Given the description of an element on the screen output the (x, y) to click on. 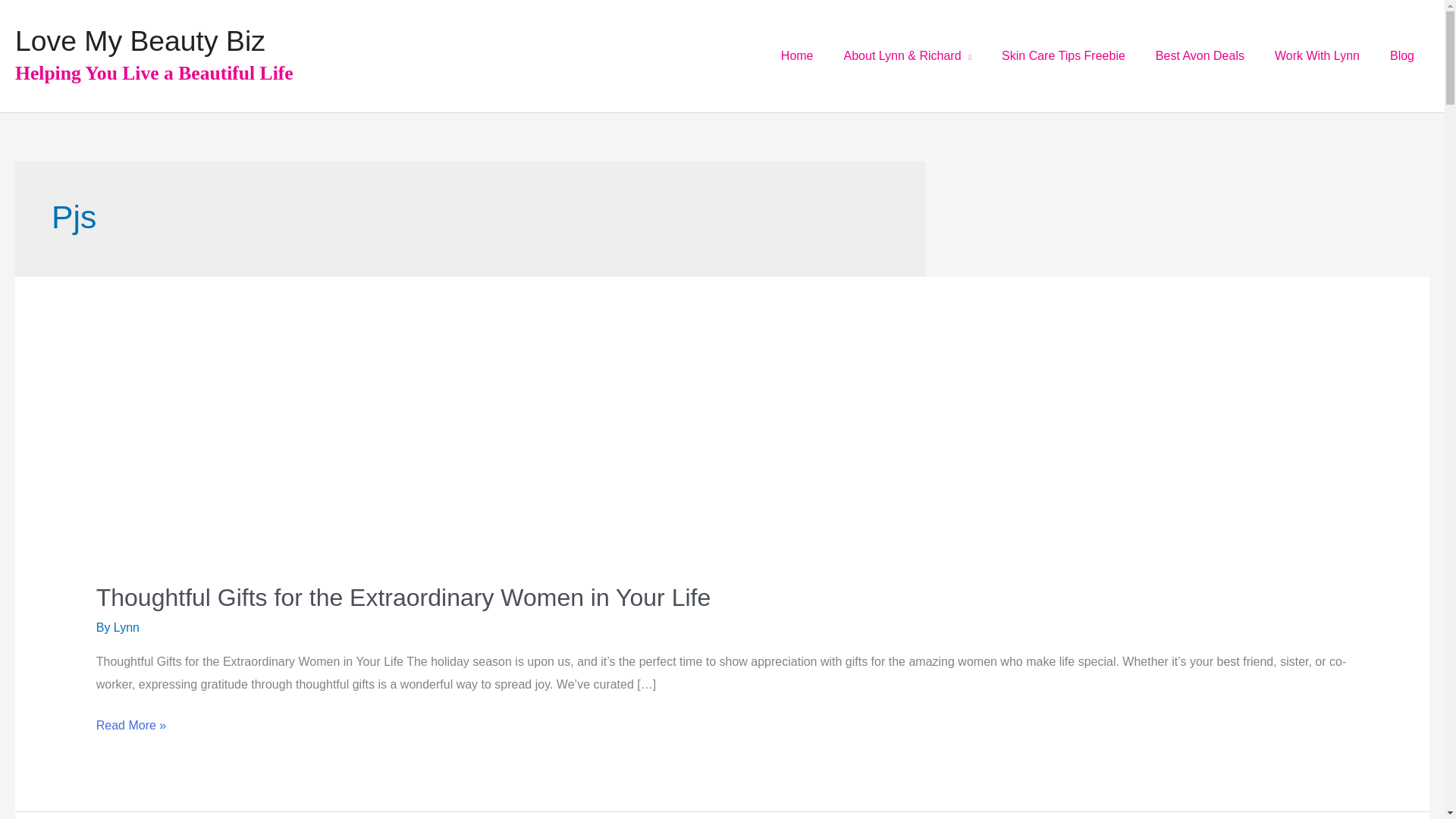
View all posts by Lynn (126, 626)
Lynn (126, 626)
Thoughtful Gifts for the Extraordinary Women in Your Life (403, 596)
Skin Care Tips Freebie (1063, 55)
Love My Beauty Biz (139, 40)
Work With Lynn (1316, 55)
Home (796, 55)
Blog (1401, 55)
Best Avon Deals (1199, 55)
